Given the description of an element on the screen output the (x, y) to click on. 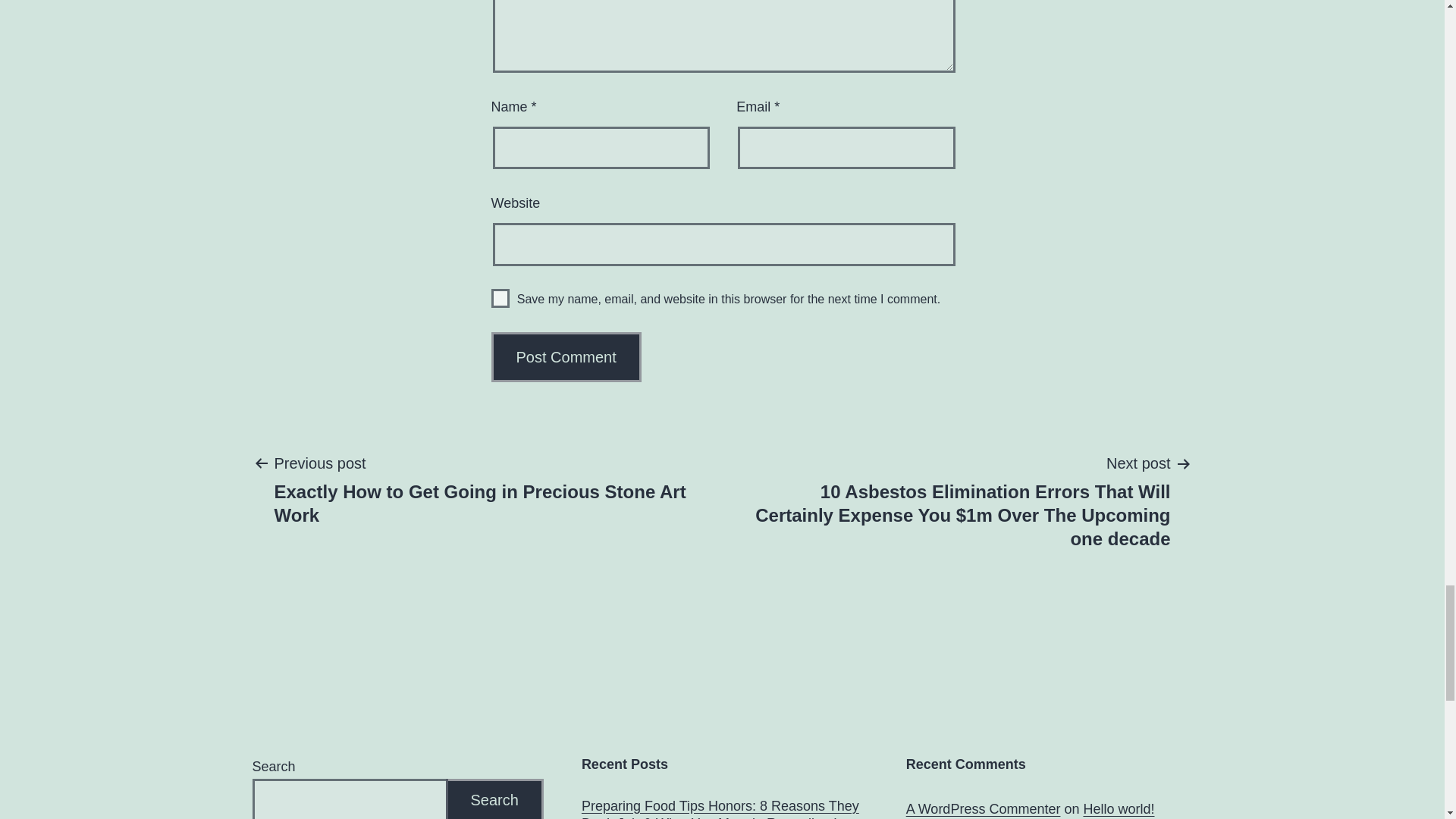
Post Comment (567, 357)
Hello world! (1118, 808)
Post Comment (567, 357)
yes (500, 298)
Search (494, 798)
A WordPress Commenter (983, 808)
